Given the description of an element on the screen output the (x, y) to click on. 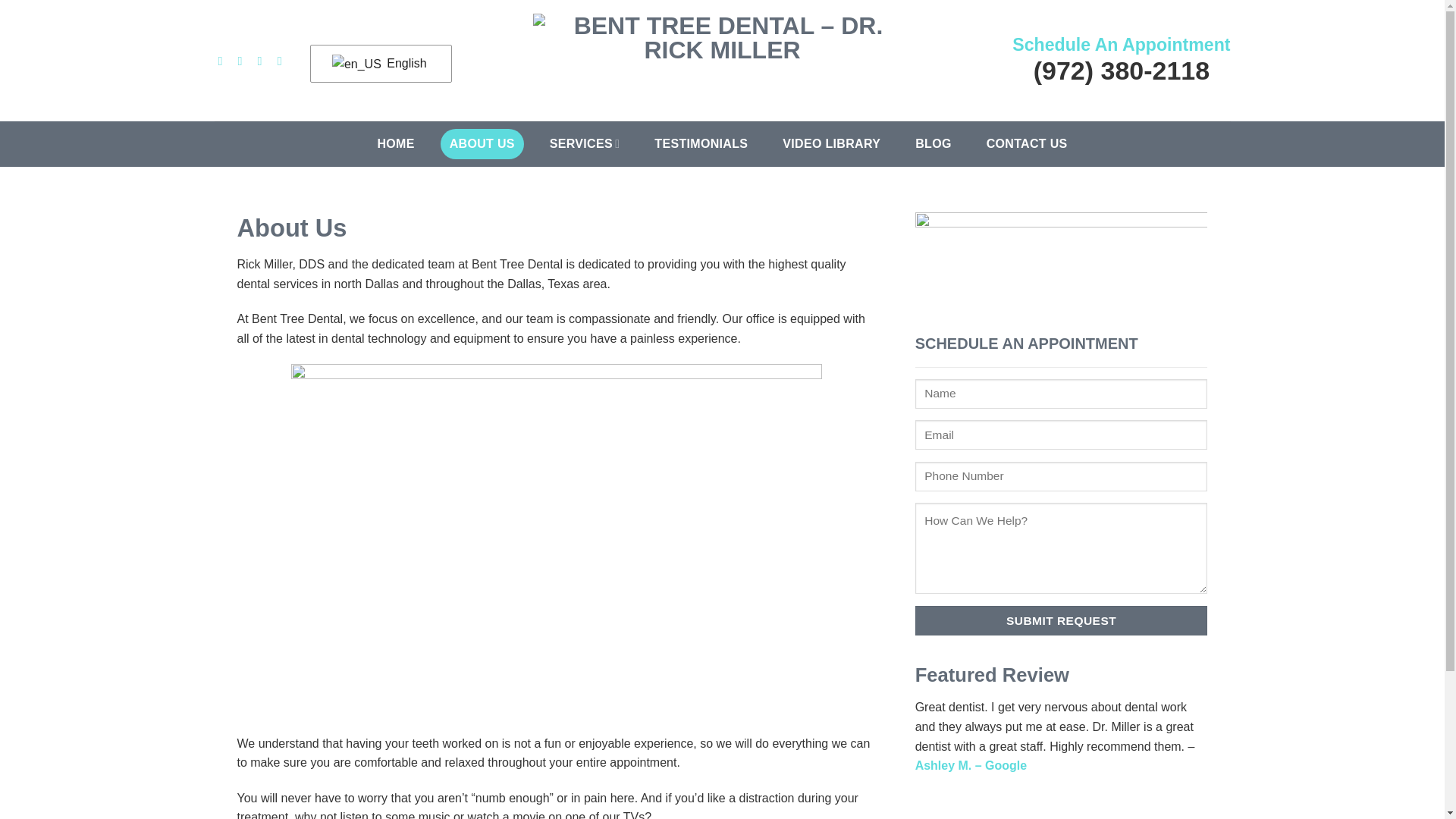
Follow on YouTube (283, 60)
SCHEDULE AN APPOINTMENT (1061, 489)
Follow on Facebook (223, 60)
Submit Request (1061, 620)
Follow on Instagram (242, 60)
English (377, 63)
Follow on Twitter (263, 60)
English (356, 64)
ABOUT US (482, 143)
HOME (395, 143)
CONTACT US (1026, 143)
Submit Request (1061, 620)
VIDEO LIBRARY (831, 143)
BLOG (932, 143)
SERVICES (584, 143)
